Given the description of an element on the screen output the (x, y) to click on. 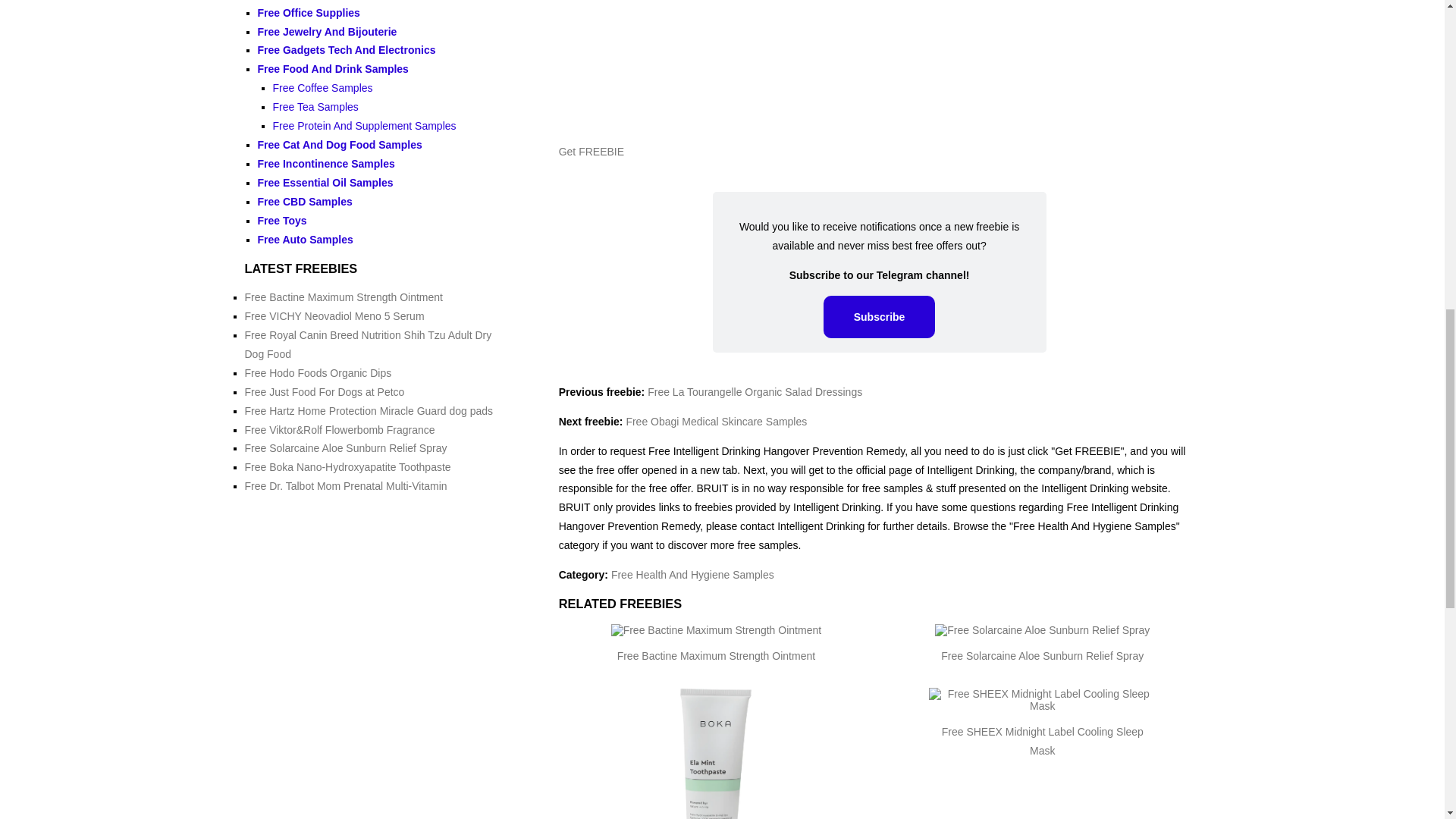
Free Solarcaine Aloe Sunburn Relief Spray (1041, 655)
Free Obagi Medical Skincare Samples (716, 421)
Free Health And Hygiene Samples (692, 574)
Advertisement (879, 65)
Free SHEEX Midnight Label Cooling Sleep Mask (1042, 740)
Subscribe (880, 316)
Free Bactine Maximum Strength Ointment (716, 655)
Get FREEBIE (591, 151)
Free La Tourangelle Organic Salad Dressings (754, 391)
